Given the description of an element on the screen output the (x, y) to click on. 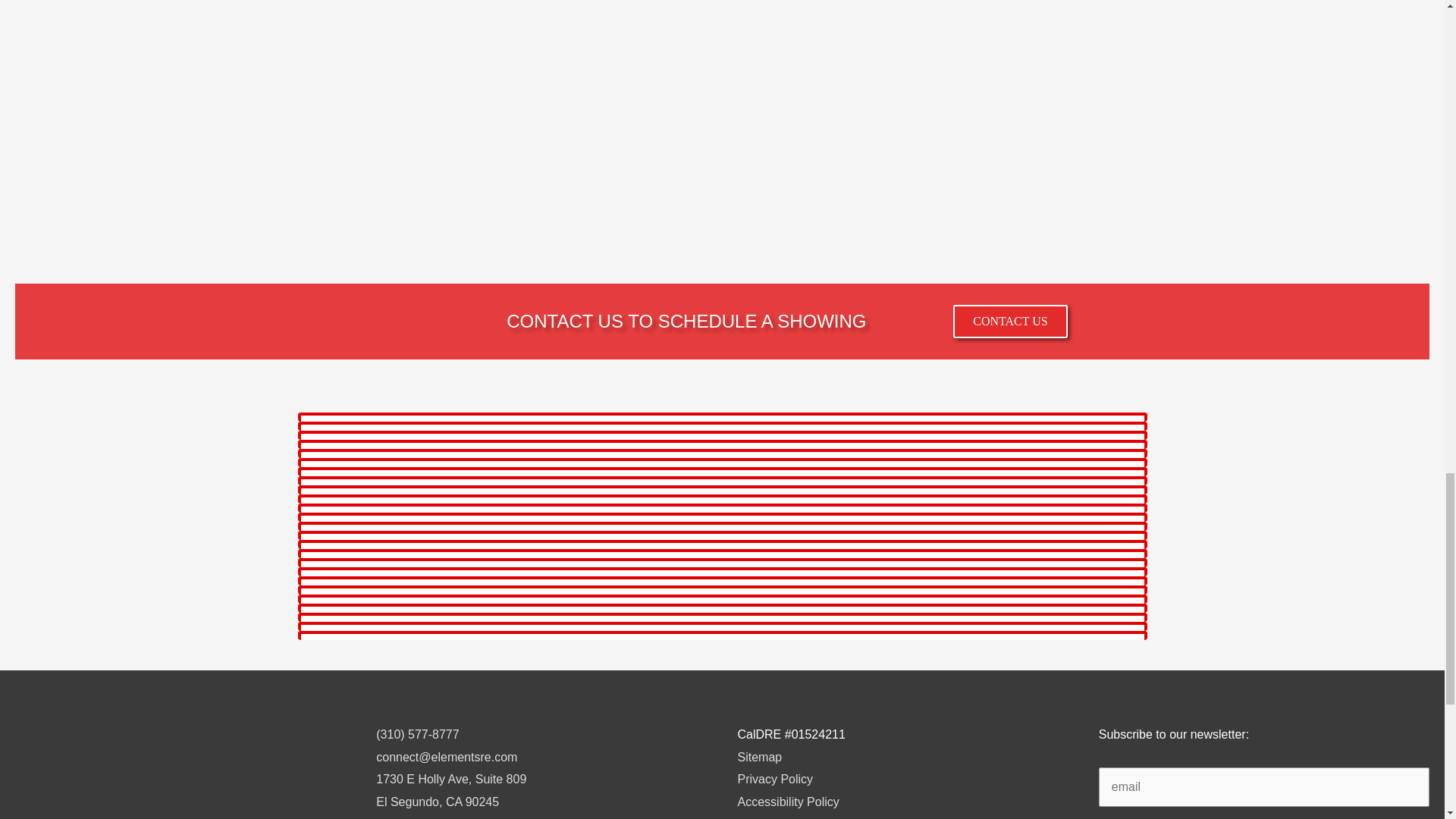
Accessibility Policy (787, 801)
CONTACT US (1010, 321)
Privacy Policy (774, 779)
Sitemap (758, 757)
